Given the description of an element on the screen output the (x, y) to click on. 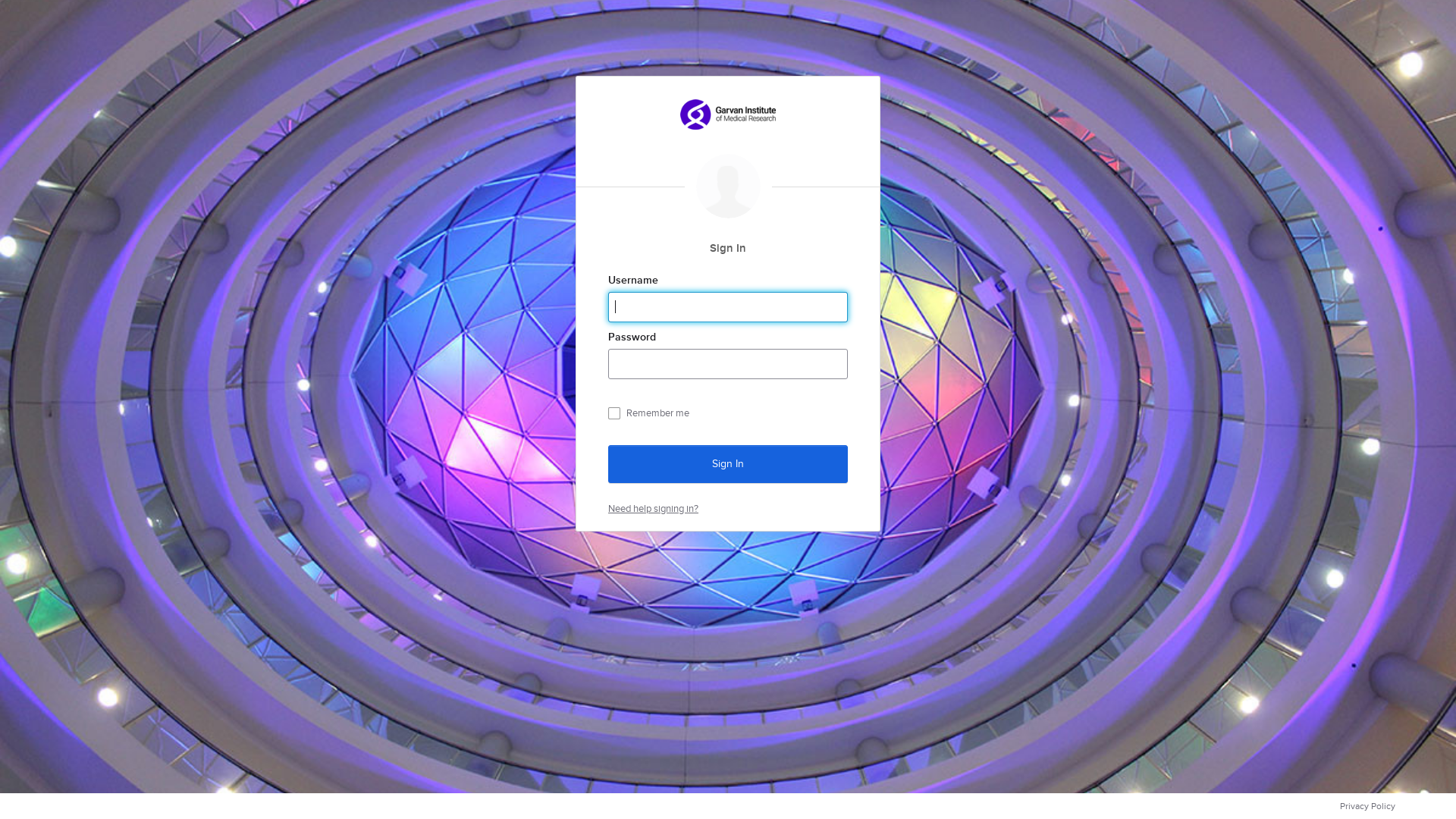
Privacy Policy Element type: text (1367, 805)
Sign In Element type: text (727, 463)
Need help signing in? Element type: text (653, 508)
